Given the description of an element on the screen output the (x, y) to click on. 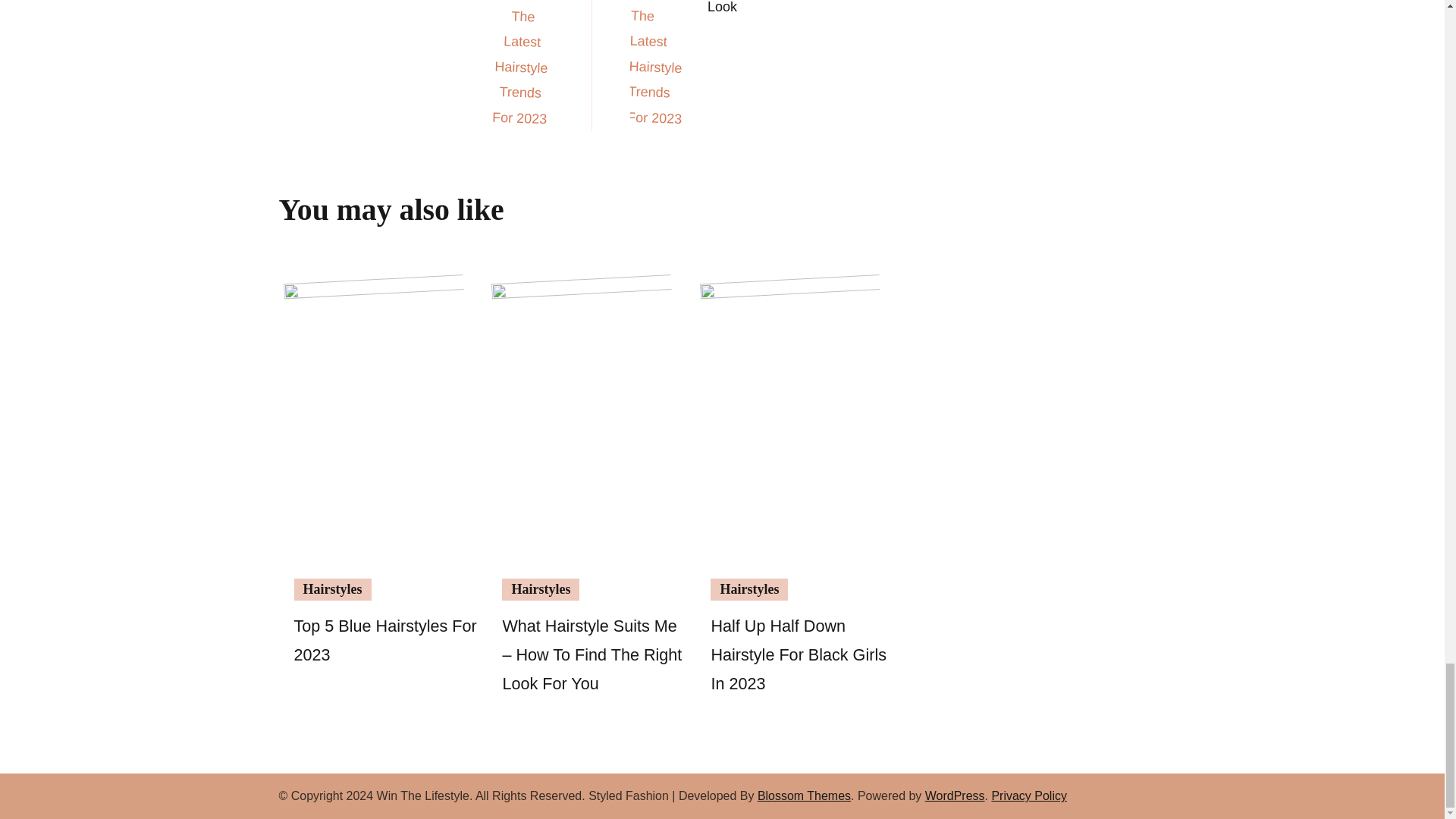
Hairstyles (332, 589)
Half Up Half Down Hairstyle For Black Girls In 2023 (798, 654)
Top 5 Blue Hairstyles For 2023 (385, 640)
Hairstyles (540, 589)
Hairstyles (748, 589)
